Given the description of an element on the screen output the (x, y) to click on. 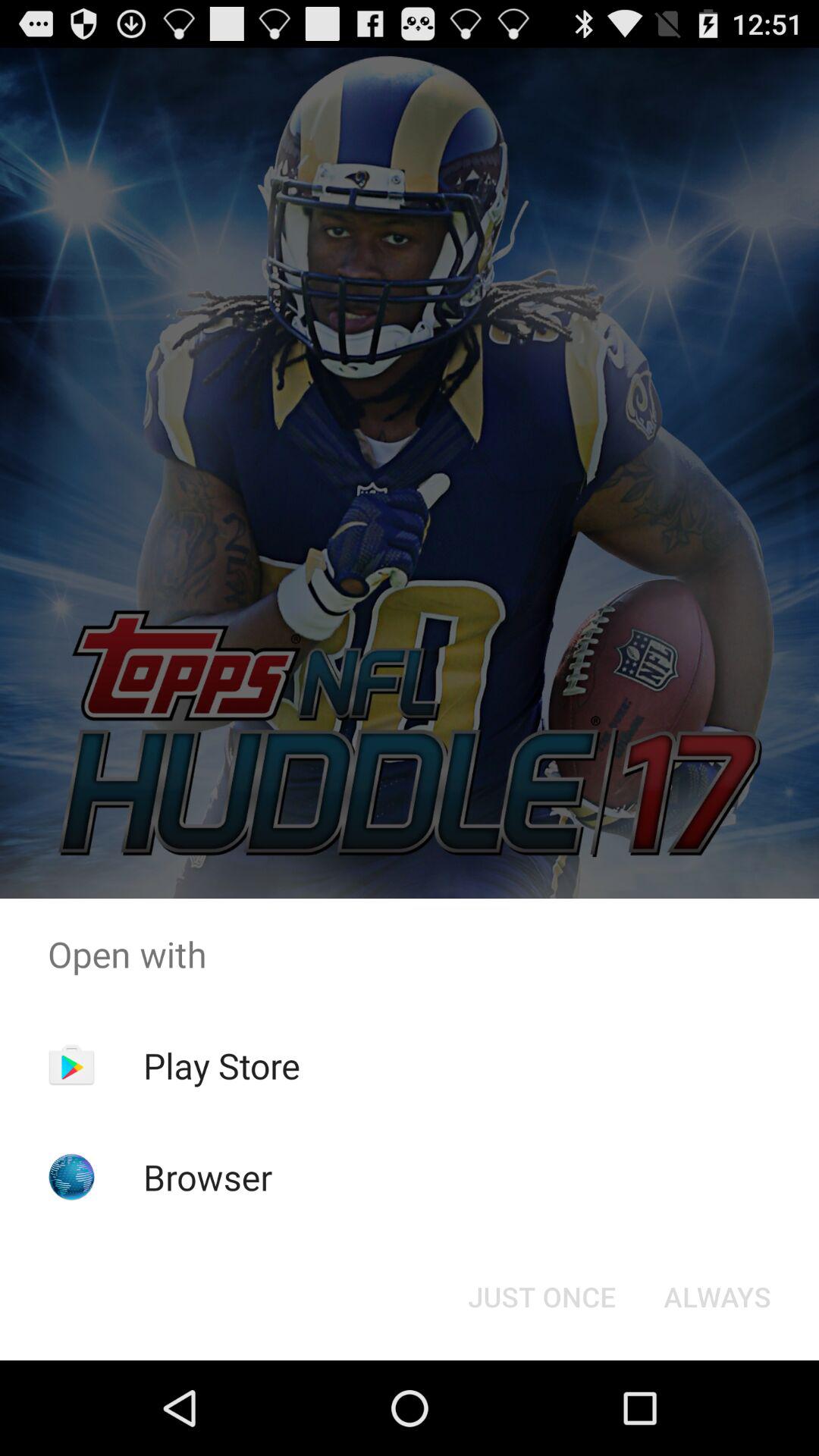
tap the just once (541, 1296)
